Given the description of an element on the screen output the (x, y) to click on. 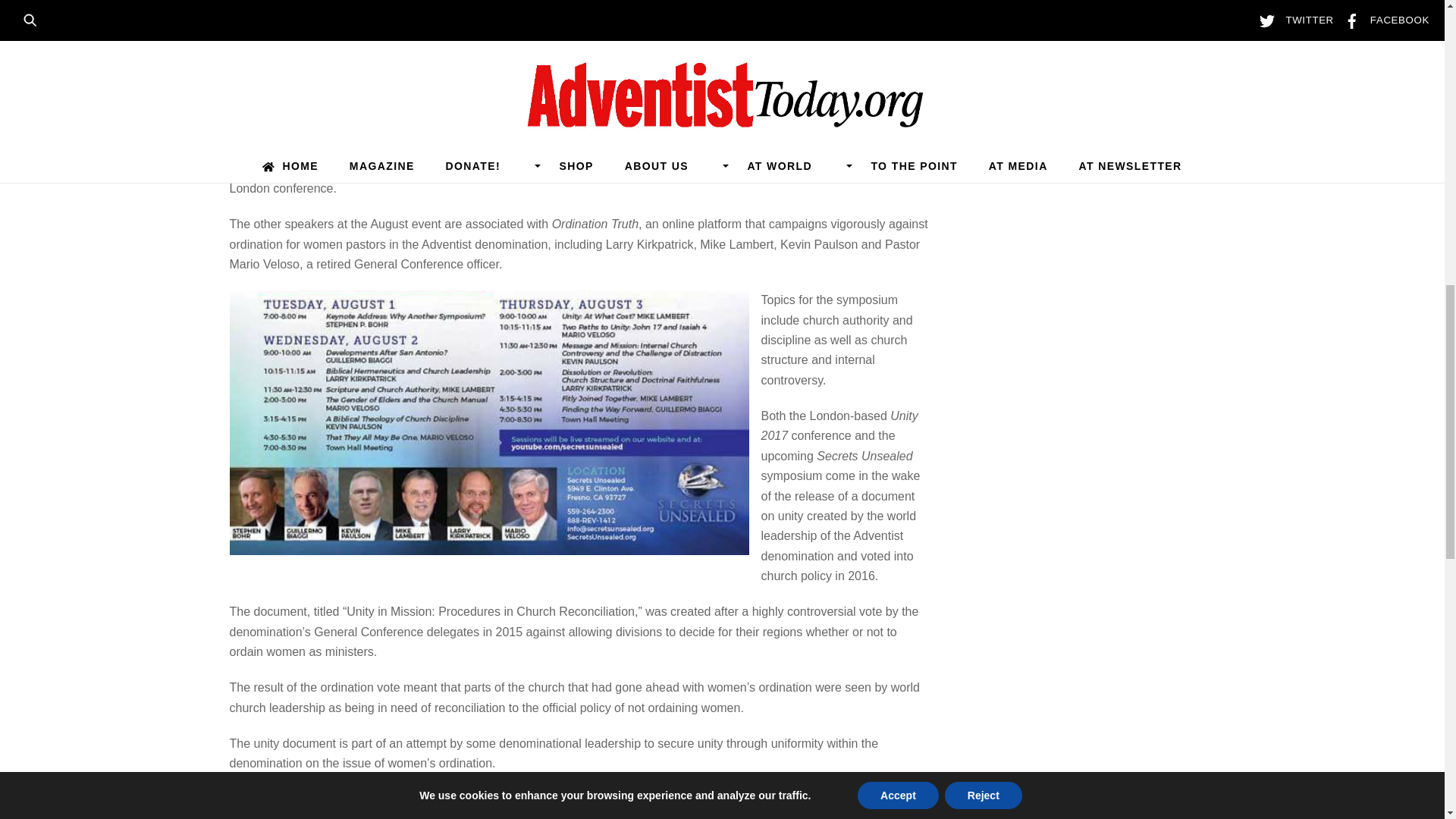
To comment, click here. (324, 798)
